Given the description of an element on the screen output the (x, y) to click on. 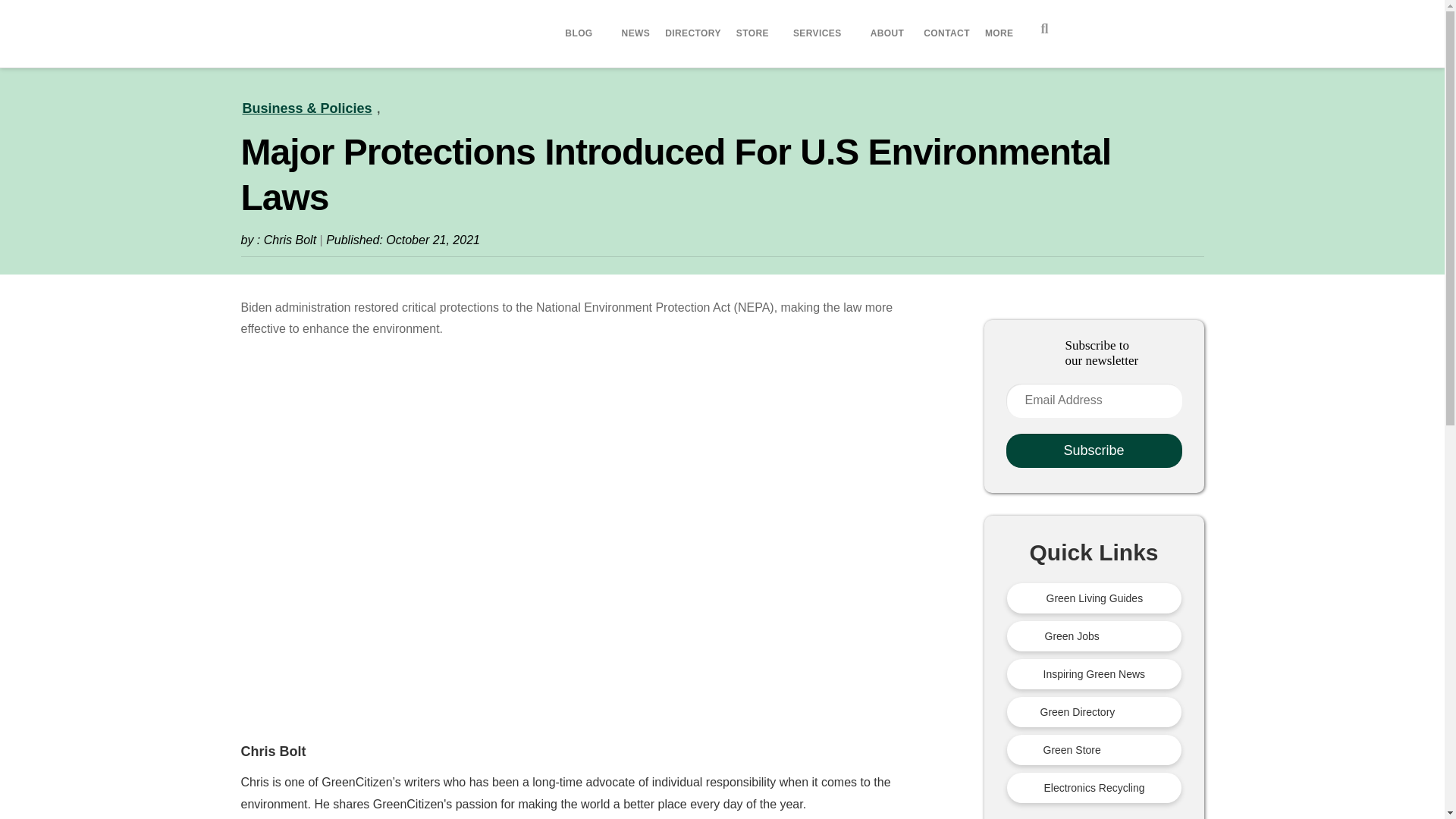
SERVICES (820, 33)
CONTACT (946, 32)
BLOG (580, 33)
All posts by Chris Bolt (273, 751)
ABOUT (889, 32)
Subscribe (1093, 450)
NEWS (635, 32)
STORE (752, 32)
DIRECTORY (692, 32)
MORE (1001, 32)
